Given the description of an element on the screen output the (x, y) to click on. 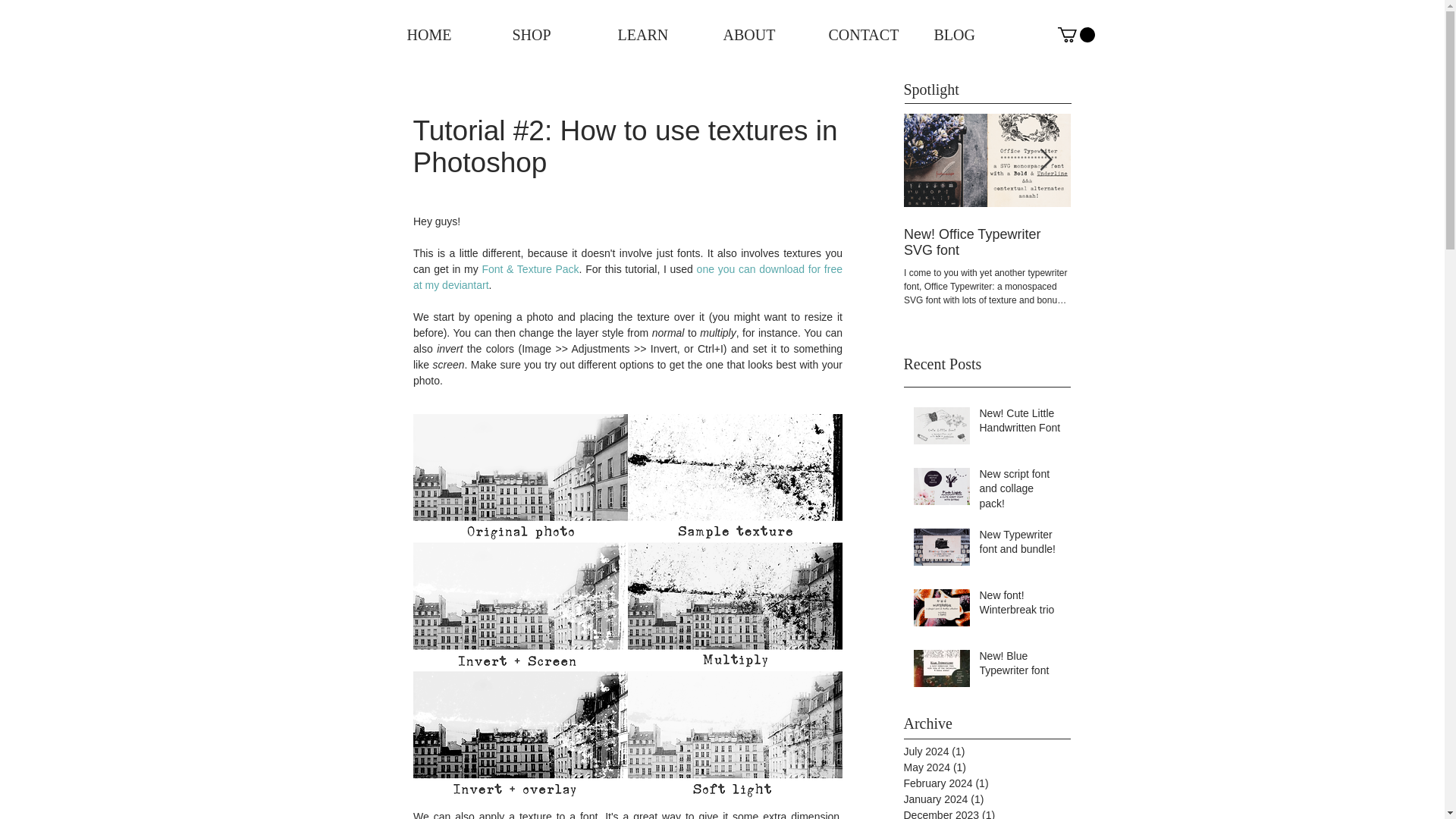
one you can download for free at my deviantart (628, 276)
New! Blue Typewriter font (1020, 666)
New font! Dramatico Script (1153, 234)
ABOUT (756, 34)
CONTACT (862, 34)
HOME (440, 34)
SHOP (545, 34)
New Typewriter font and bundle! (1020, 545)
LEARN (651, 34)
New font! Winterbreak trio (1020, 606)
New! Cute Little Handwritten Font (1020, 424)
New! Office Typewriter SVG font (987, 242)
BLOG (967, 34)
New script font and collage pack! (1020, 491)
